Given the description of an element on the screen output the (x, y) to click on. 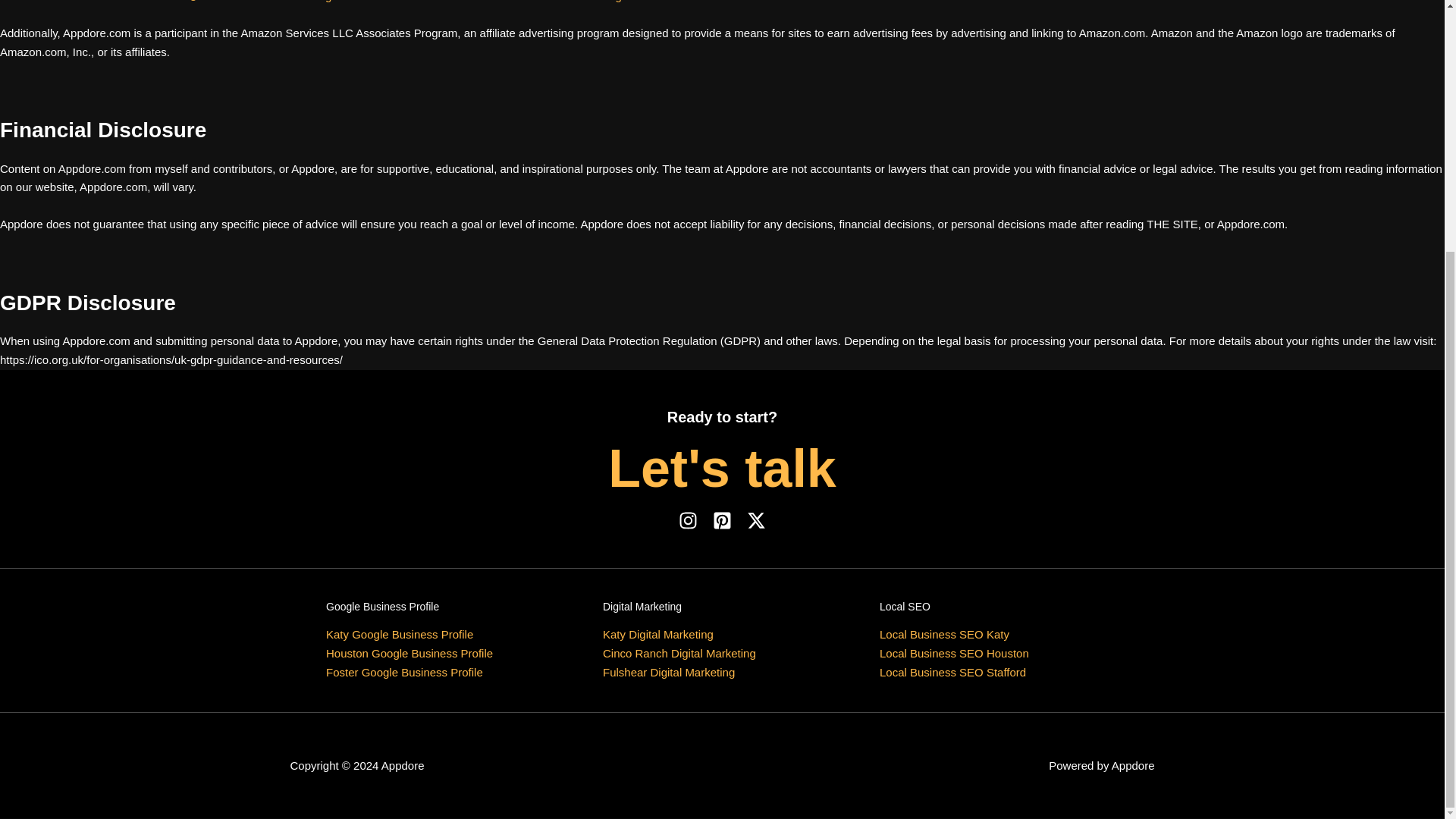
Local Business SEO Stafford (952, 671)
Foster Google Business Profile (404, 671)
Let's talk (721, 467)
Local Business SEO Katy (944, 634)
Katy Google Business Profile (399, 634)
Houston Google Business Profile (409, 653)
Katy Digital Marketing (657, 634)
Cinco Ranch Digital Marketing (678, 653)
Local Business SEO Houston (954, 653)
Fulshear Digital Marketing (668, 671)
